Given the description of an element on the screen output the (x, y) to click on. 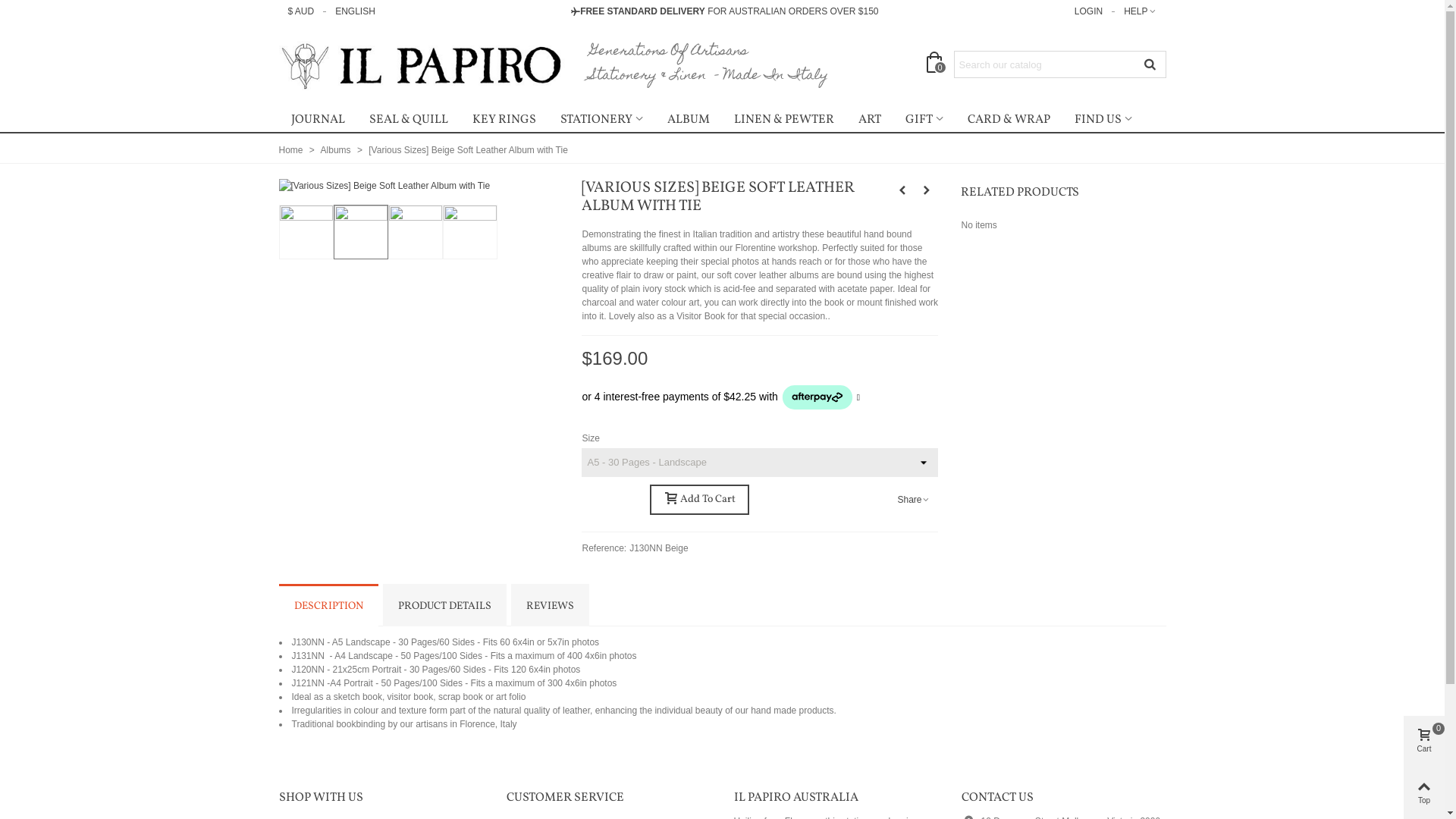
Beige Marbled Album Element type: hover (902, 189)
Add To Cart Element type: text (699, 499)
STATIONERY Element type: text (600, 119)
REVIEWS Element type: text (550, 604)
JOURNAL Element type: text (318, 119)
ALBUM Element type: text (688, 119)
0 Element type: text (936, 64)
KEY RINGS Element type: text (503, 119)
DESCRIPTION Element type: text (328, 604)
Albums Element type: text (336, 149)
FIND US Element type: text (1102, 119)
[Various Sizes] Beige Soft Leather Album with Tie Element type: text (467, 149)
SEAL & QUILL Element type: text (407, 119)
GIFT Element type: text (924, 119)
LINEN & PEWTER Element type: text (783, 119)
LOGIN Element type: text (1088, 11)
Refresh Element type: text (29, 12)
Cart
0 Element type: text (1423, 741)
CARD & WRAP Element type: text (1008, 119)
[Various Sizes] Manuscript Paper Album Element type: hover (926, 189)
Il Papiro Element type: hover (423, 64)
PRODUCT DETAILS Element type: text (443, 604)
Home Element type: text (292, 149)
[Various Sizes] Beige Soft Leather Album with Tie Element type: hover (384, 185)
ART Element type: text (869, 119)
